Given the description of an element on the screen output the (x, y) to click on. 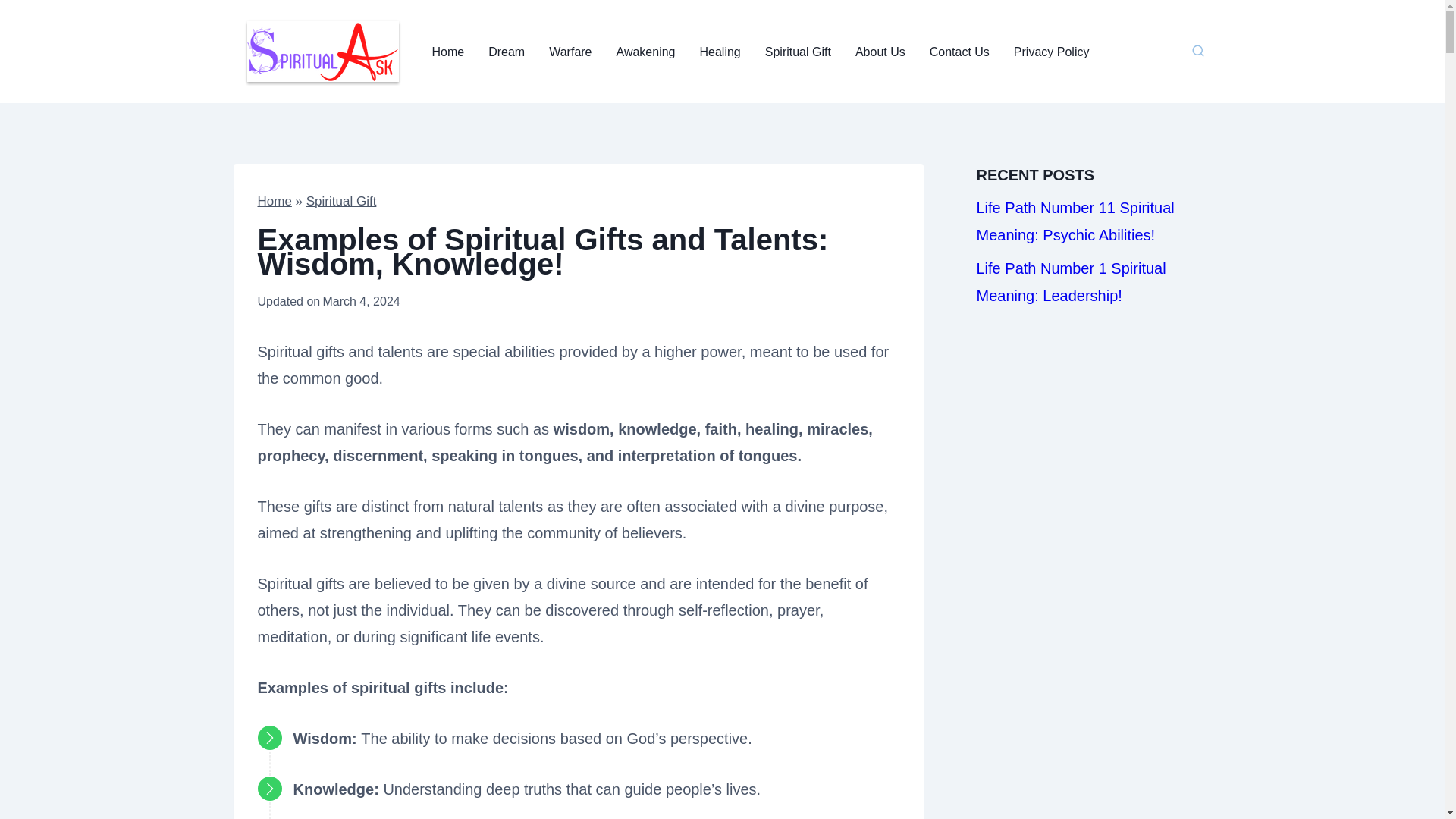
Spiritual Gift (797, 51)
Healing (719, 51)
Dream (506, 51)
About Us (880, 51)
Spiritual Gift (341, 201)
Home (448, 51)
Warfare (570, 51)
Contact Us (959, 51)
Home (274, 201)
Awakening (645, 51)
Privacy Policy (1051, 51)
